Given the description of an element on the screen output the (x, y) to click on. 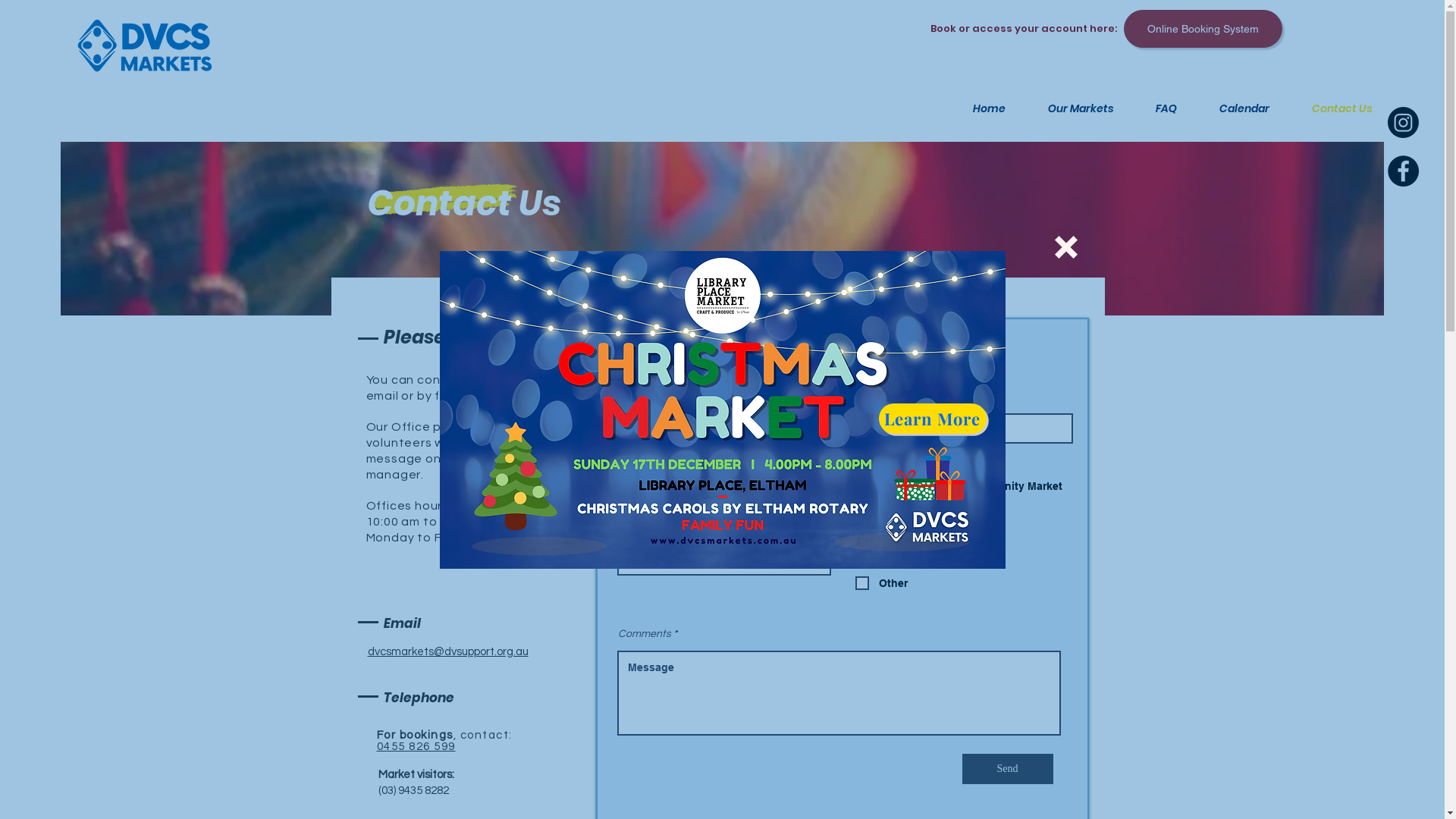
Learn More Element type: text (931, 418)
FAQ Element type: text (1156, 108)
Online Booking System Element type: text (1202, 28)
Home Element type: text (978, 108)
dvcsmarkets@dvsupport.org.au Element type: text (447, 651)
Calendar Element type: text (1234, 108)
0455 826 599 Element type: text (415, 746)
Contact Us Element type: text (1331, 108)
Back to site Element type: hover (1065, 246)
Send Element type: text (1006, 768)
